Given the description of an element on the screen output the (x, y) to click on. 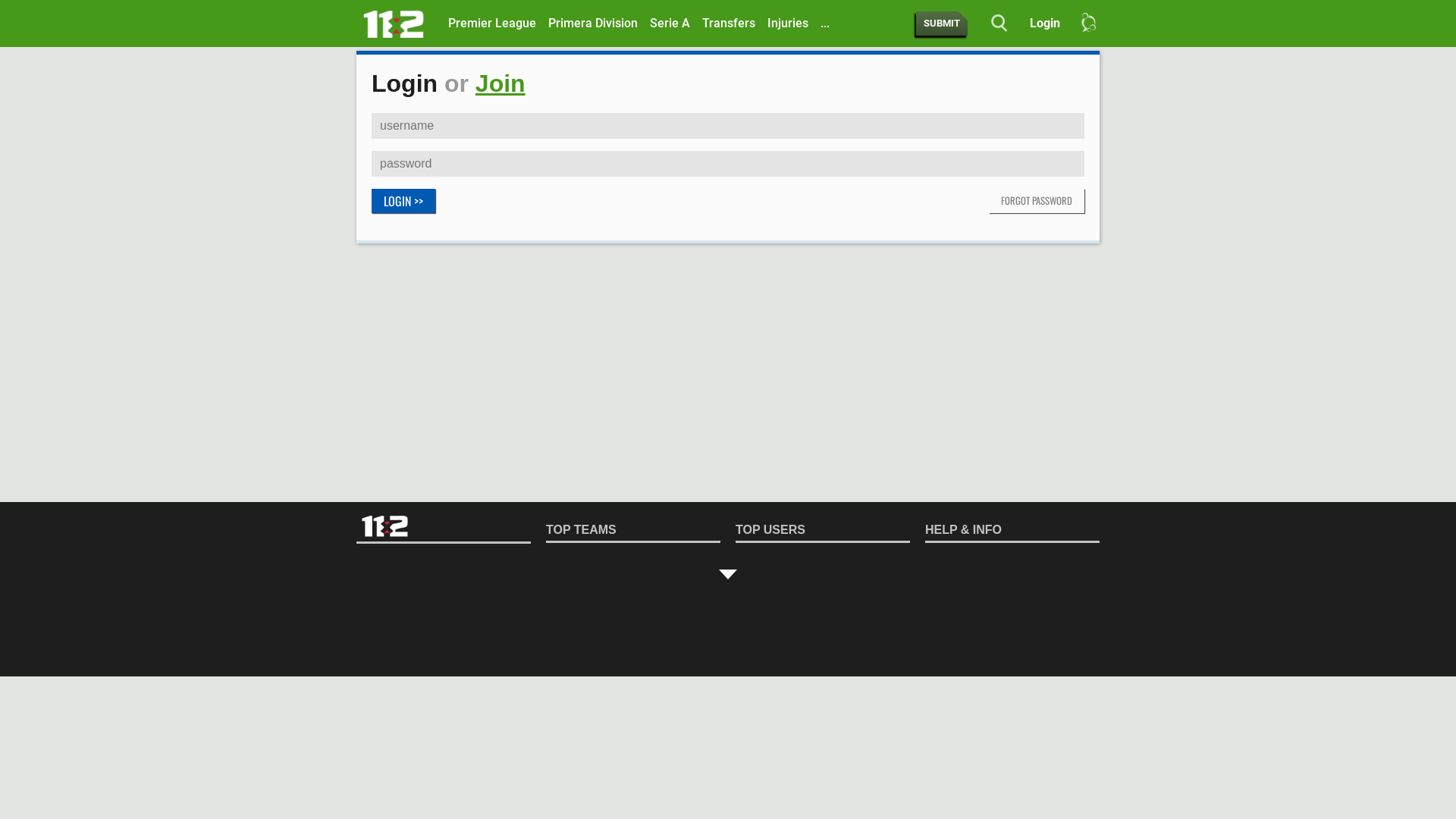
Show me footer... Element type: text (727, 573)
FORGOT PASSWORD Element type: text (1036, 200)
Search Element type: hover (991, 23)
Login Element type: text (1038, 23)
TOP TEAMS Element type: text (633, 530)
LOGIN >> Element type: text (403, 200)
Serie A Element type: text (669, 24)
Premier League Element type: text (492, 24)
Join Element type: text (500, 83)
Primera Division Element type: text (592, 24)
... Element type: text (824, 24)
SUBMIT Element type: text (941, 23)
TOP USERS Element type: text (822, 530)
Injuries Element type: text (787, 24)
HELP & INFO Element type: text (1012, 530)
Transfers Element type: text (728, 24)
